Given the description of an element on the screen output the (x, y) to click on. 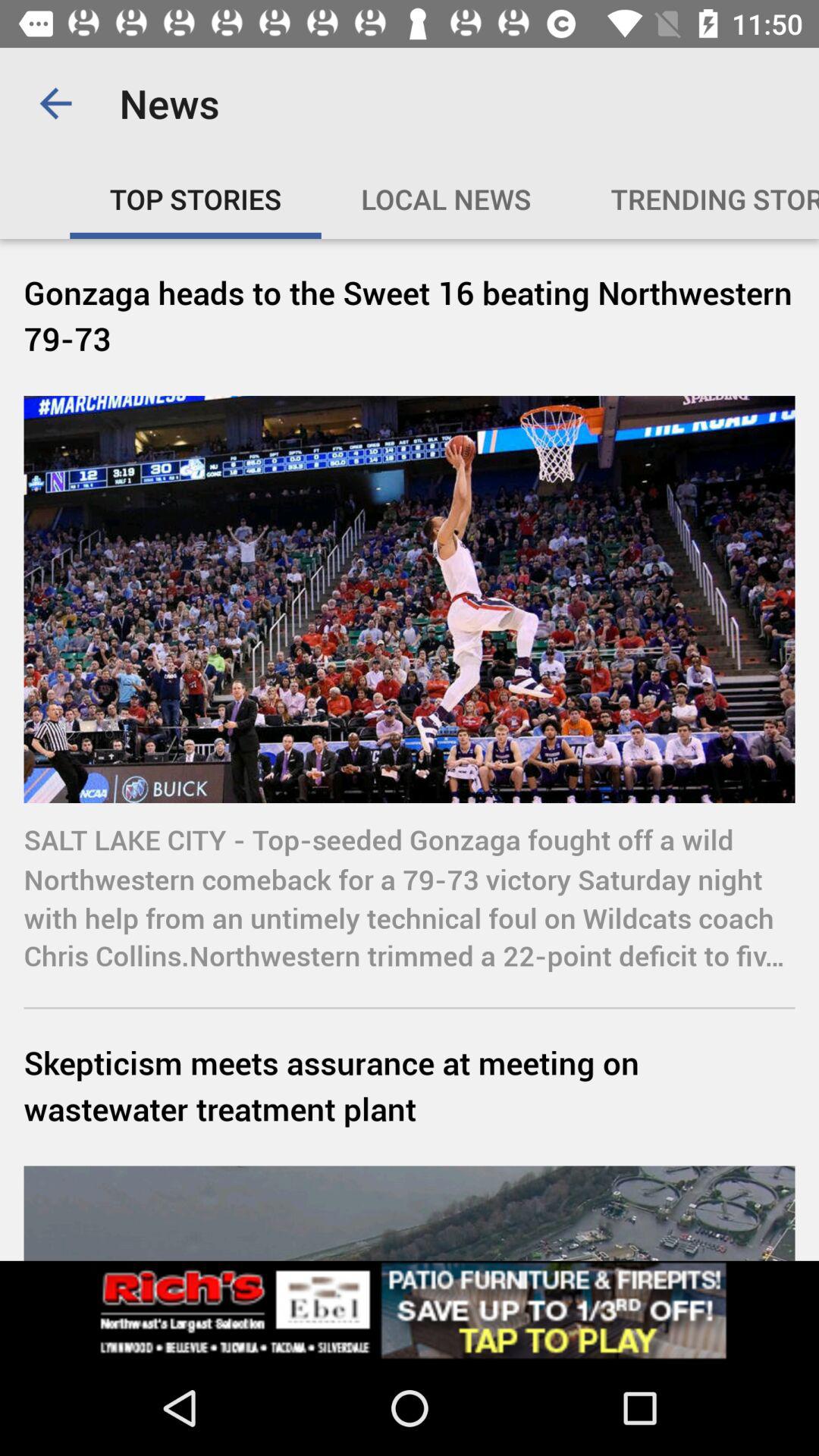
advertisement option (409, 1310)
